Given the description of an element on the screen output the (x, y) to click on. 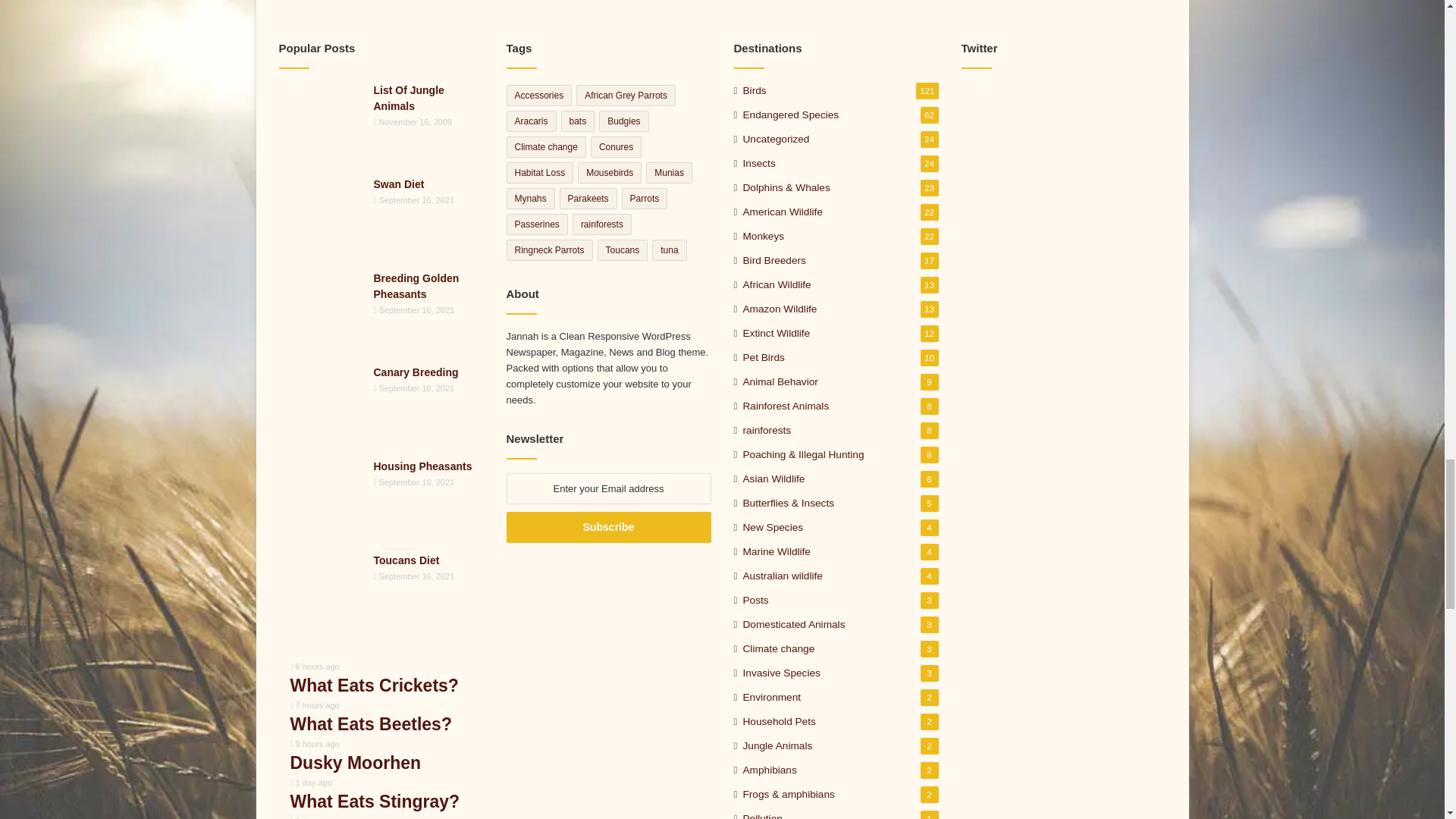
Subscribe (608, 526)
